Given the description of an element on the screen output the (x, y) to click on. 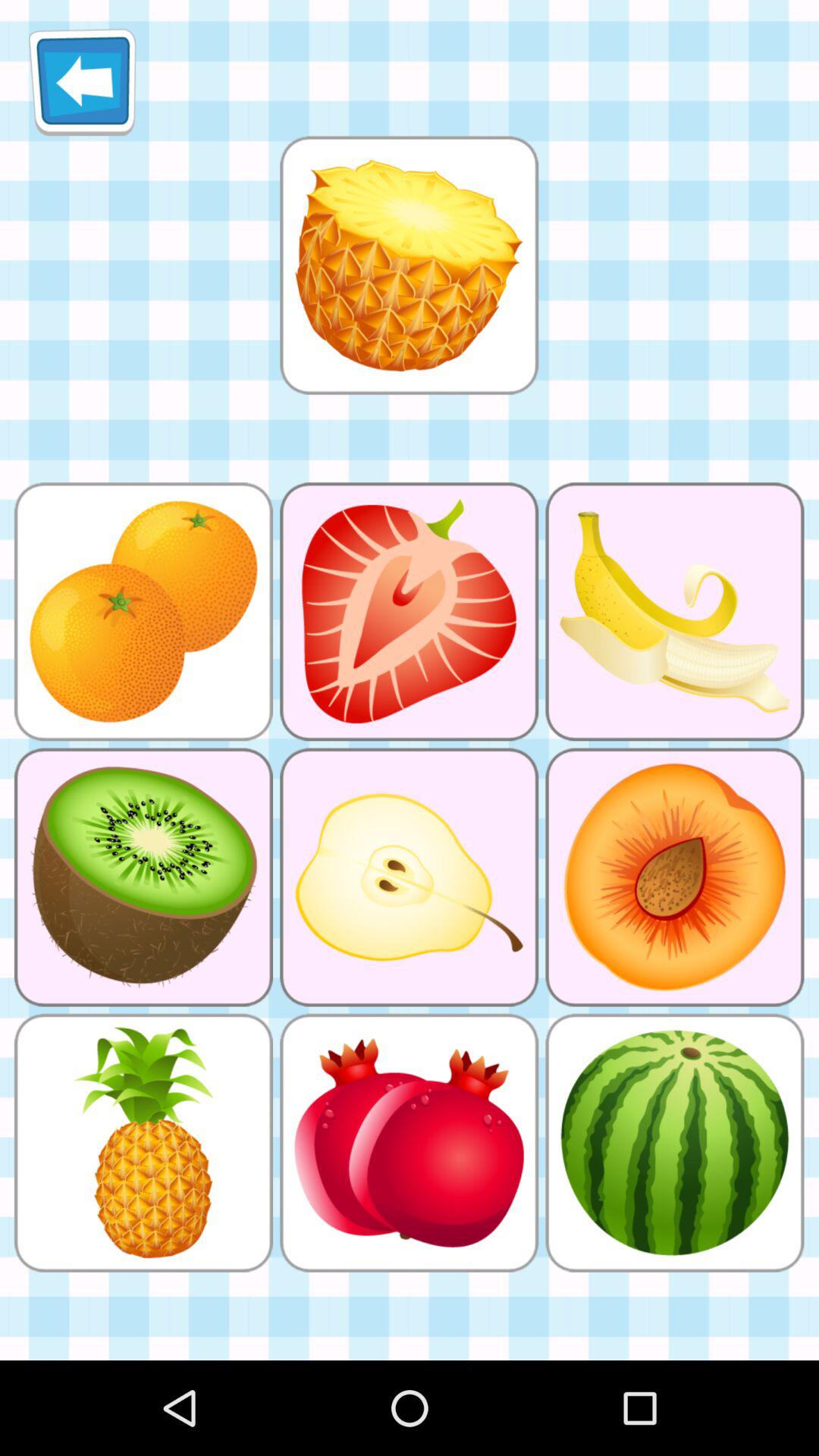
go to advertisement (409, 265)
